Given the description of an element on the screen output the (x, y) to click on. 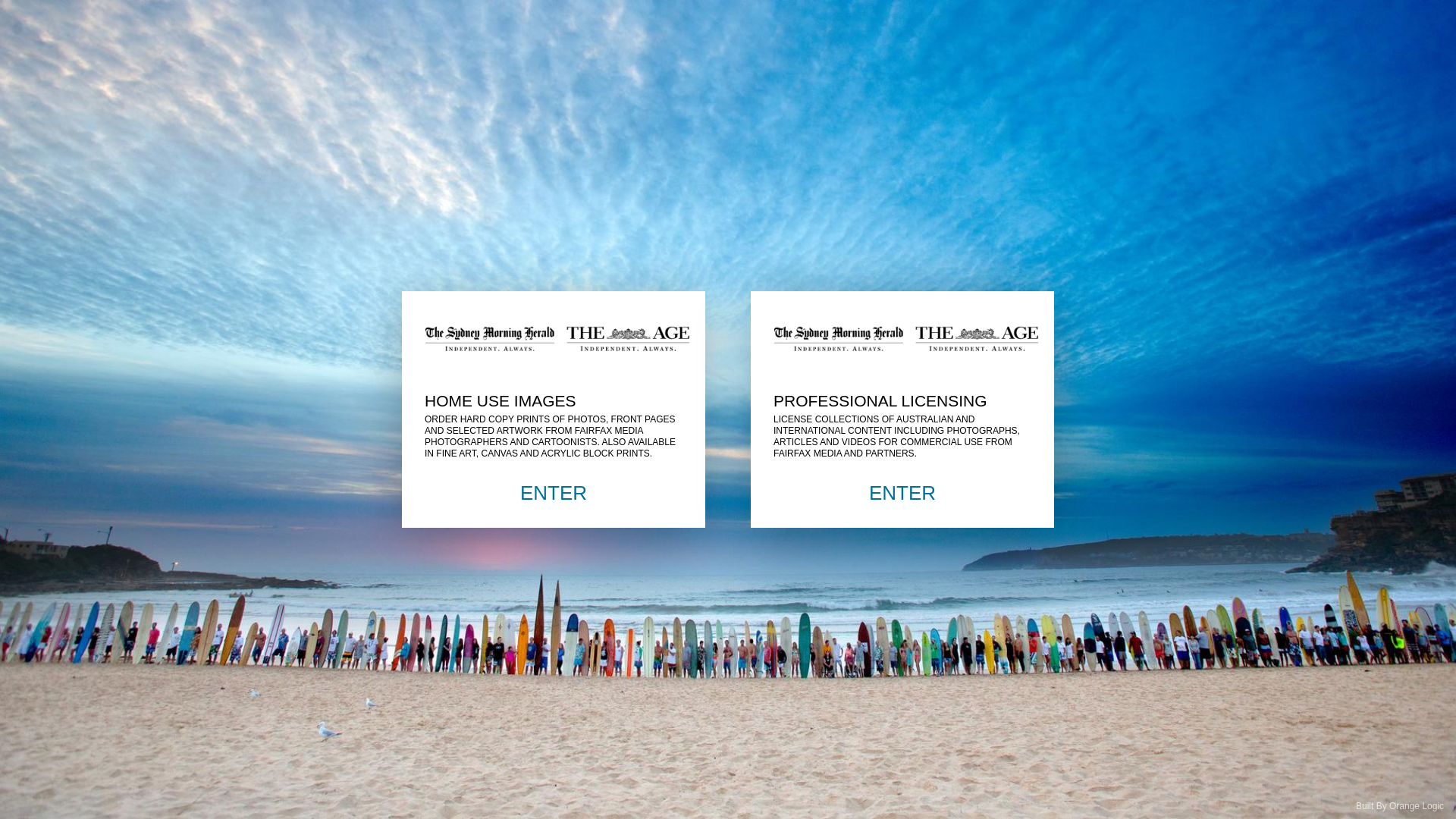
Show keyboard shortcuts Element type: hover (27, 19)
Built By Orange Logic Element type: text (1399, 805)
ENTER Element type: text (902, 493)
ENTER Element type: text (553, 493)
